Given the description of an element on the screen output the (x, y) to click on. 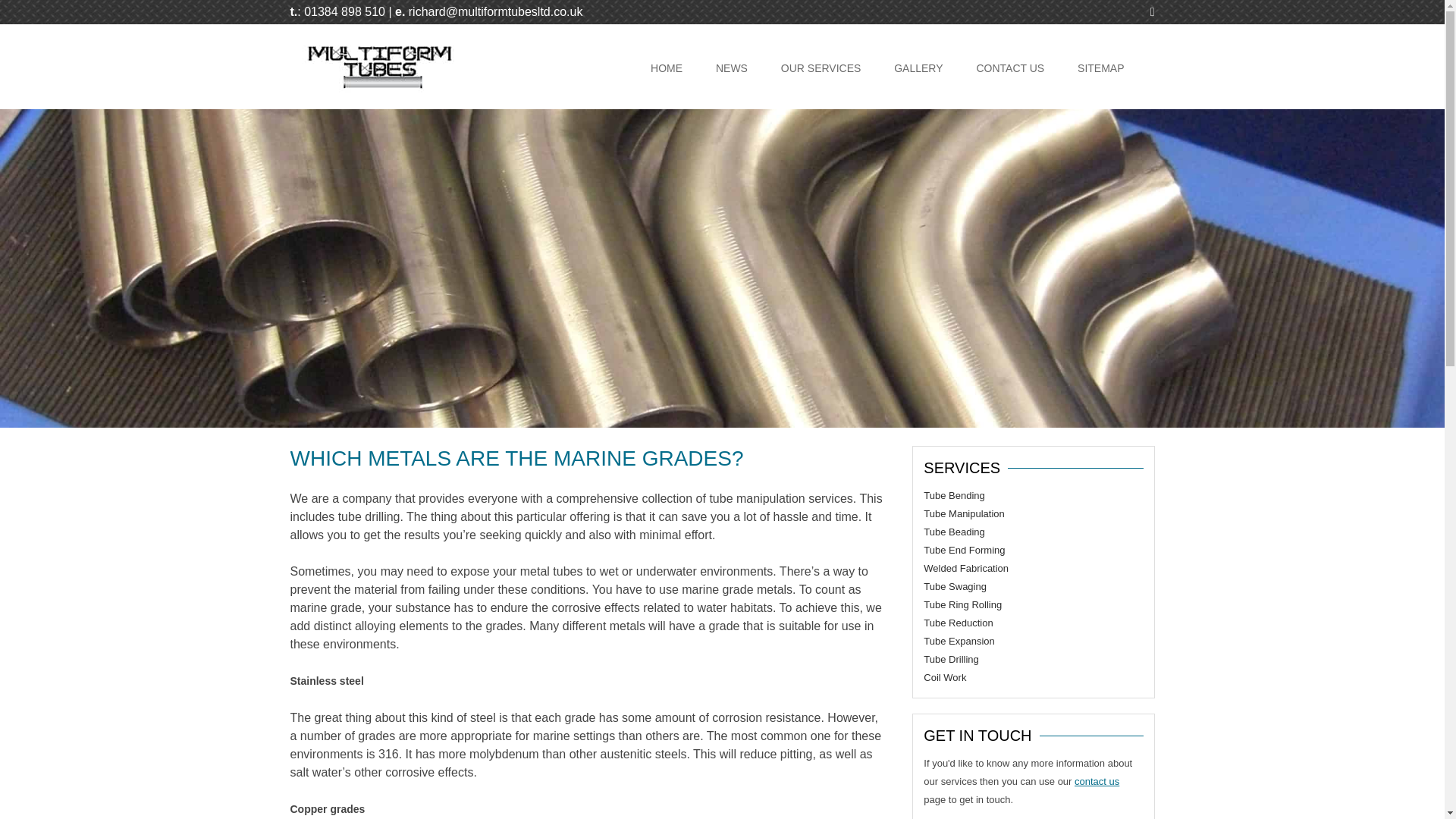
GALLERY (917, 68)
Tube End Forming (963, 550)
Tube Beading (953, 531)
Tube Bending (953, 495)
Tube Swaging (955, 586)
Tube Drilling (950, 659)
Tube Expansion (958, 641)
Multiform Tubes Engineering (378, 88)
Tube Reduction (957, 622)
TUBE BENDING (856, 106)
